Given the description of an element on the screen output the (x, y) to click on. 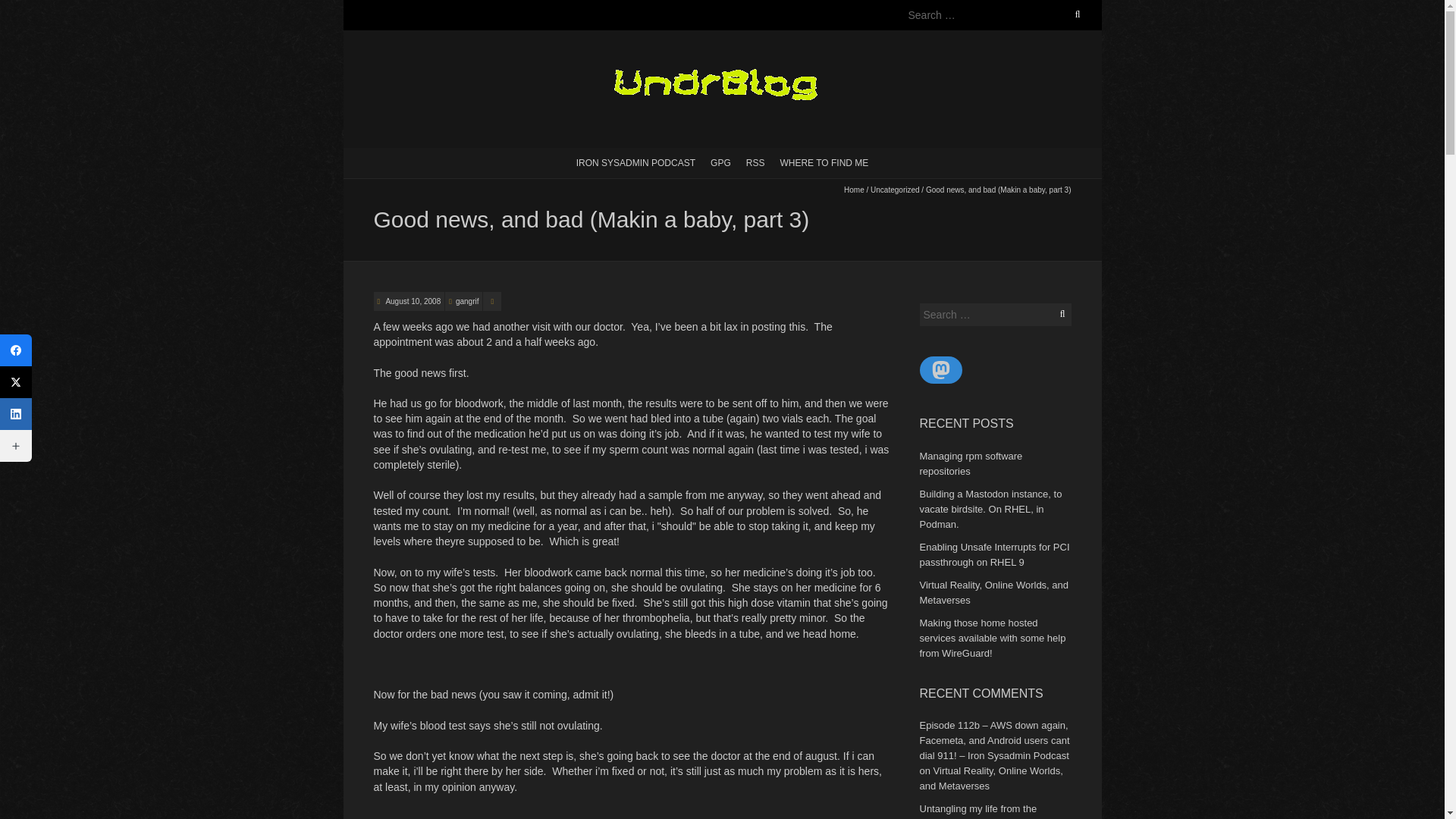
IRON SYSADMIN PODCAST (636, 162)
gangrif (467, 301)
Search (28, 9)
Category (491, 301)
Mastodon (939, 370)
Home (854, 189)
Untangling my life from the Google ecosystem - Undrblog (983, 811)
GPG (720, 162)
RSS (755, 162)
